Given the description of an element on the screen output the (x, y) to click on. 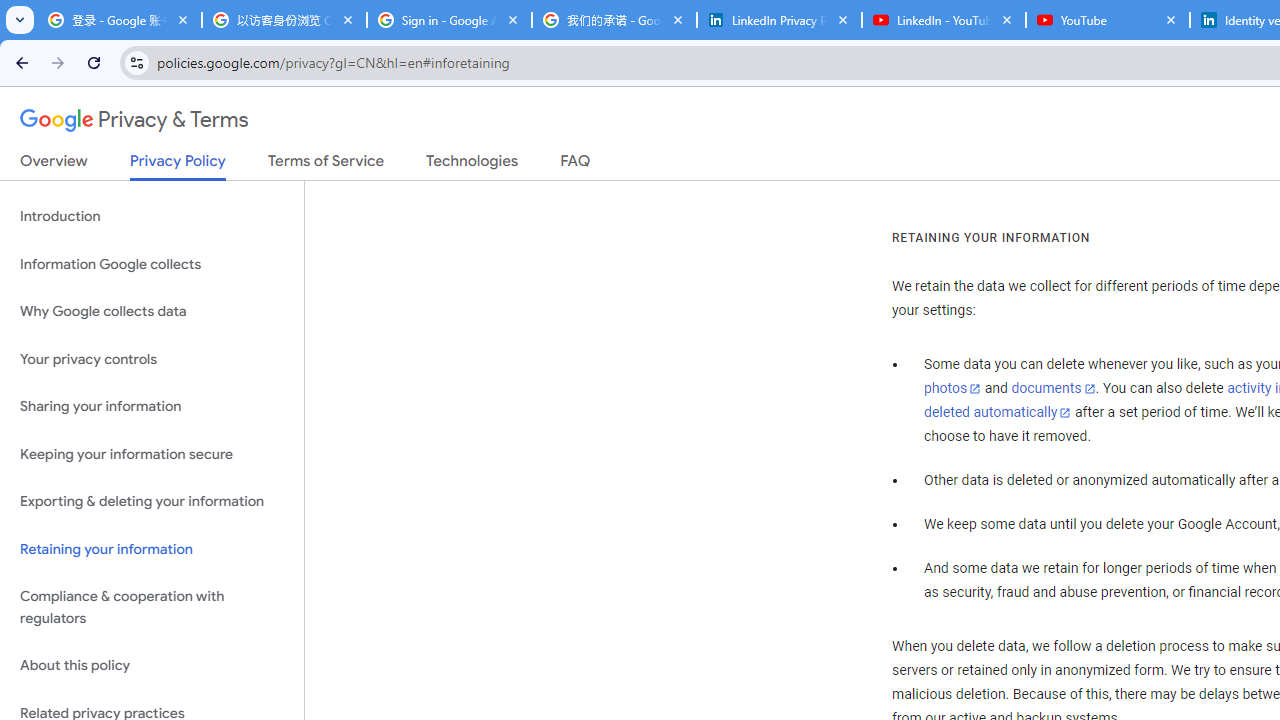
Retaining your information (152, 548)
Why Google collects data (152, 312)
Exporting & deleting your information (152, 502)
Sharing your information (152, 407)
documents (1053, 389)
Compliance & cooperation with regulators (152, 607)
About this policy (152, 666)
Sign in - Google Accounts (449, 20)
